Given the description of an element on the screen output the (x, y) to click on. 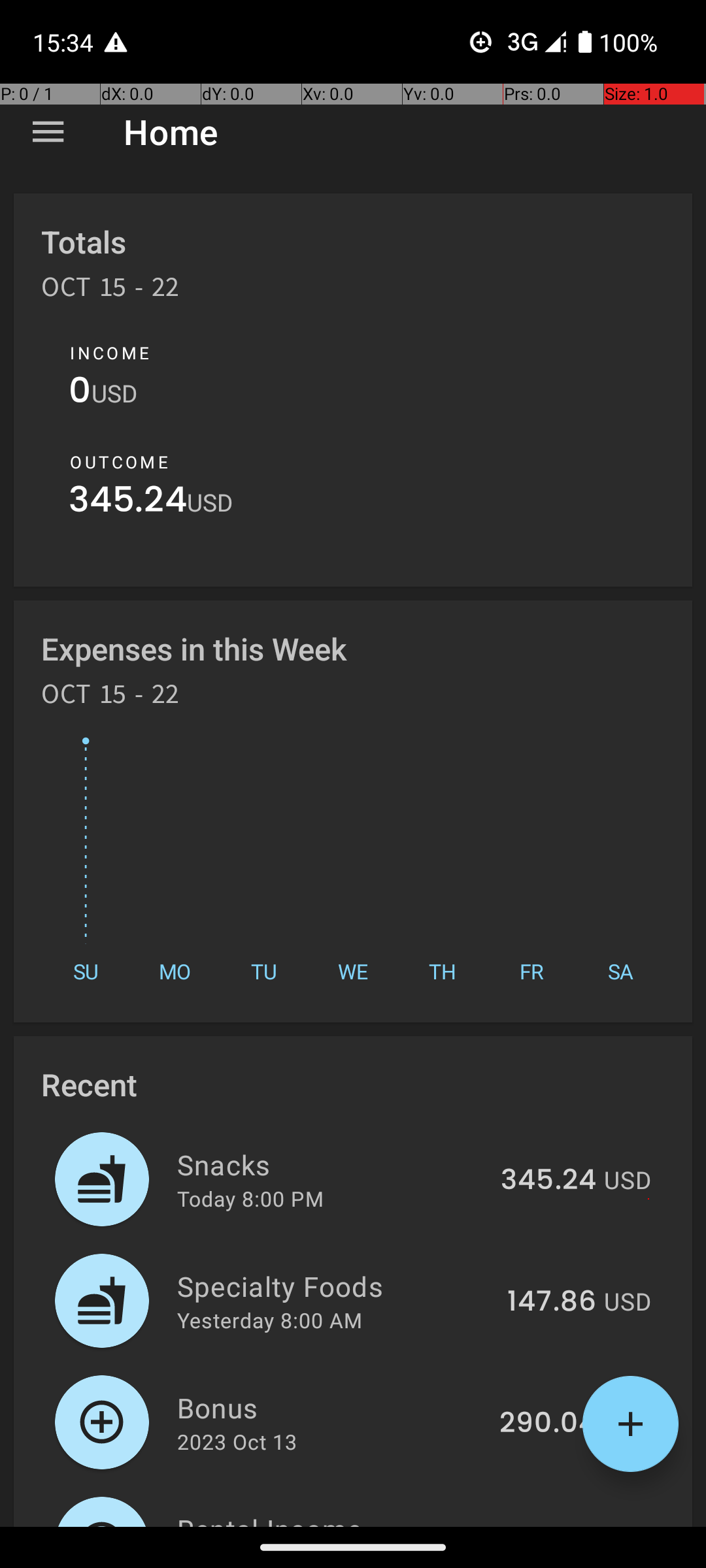
Totals Element type: android.widget.TextView (83, 240)
OCT 15 - 22 Element type: android.widget.TextView (110, 291)
INCOME Element type: android.widget.TextView (109, 352)
OUTCOME Element type: android.widget.TextView (118, 461)
345.24 Element type: android.widget.TextView (127, 502)
Expenses in this Week Element type: android.widget.TextView (194, 648)
Recent Element type: android.widget.TextView (89, 1083)
Snacks Element type: android.widget.TextView (331, 1164)
Today 8:00 PM Element type: android.widget.TextView (250, 1198)
Specialty Foods Element type: android.widget.TextView (334, 1285)
Yesterday 8:00 AM Element type: android.widget.TextView (269, 1320)
147.86 Element type: android.widget.TextView (551, 1301)
Bonus Element type: android.widget.TextView (330, 1407)
2023 Oct 13 Element type: android.widget.TextView (236, 1441)
290.04 Element type: android.widget.TextView (547, 1423)
Rental Income Element type: android.widget.TextView (331, 1518)
463.23 Element type: android.widget.TextView (548, 1524)
